Given the description of an element on the screen output the (x, y) to click on. 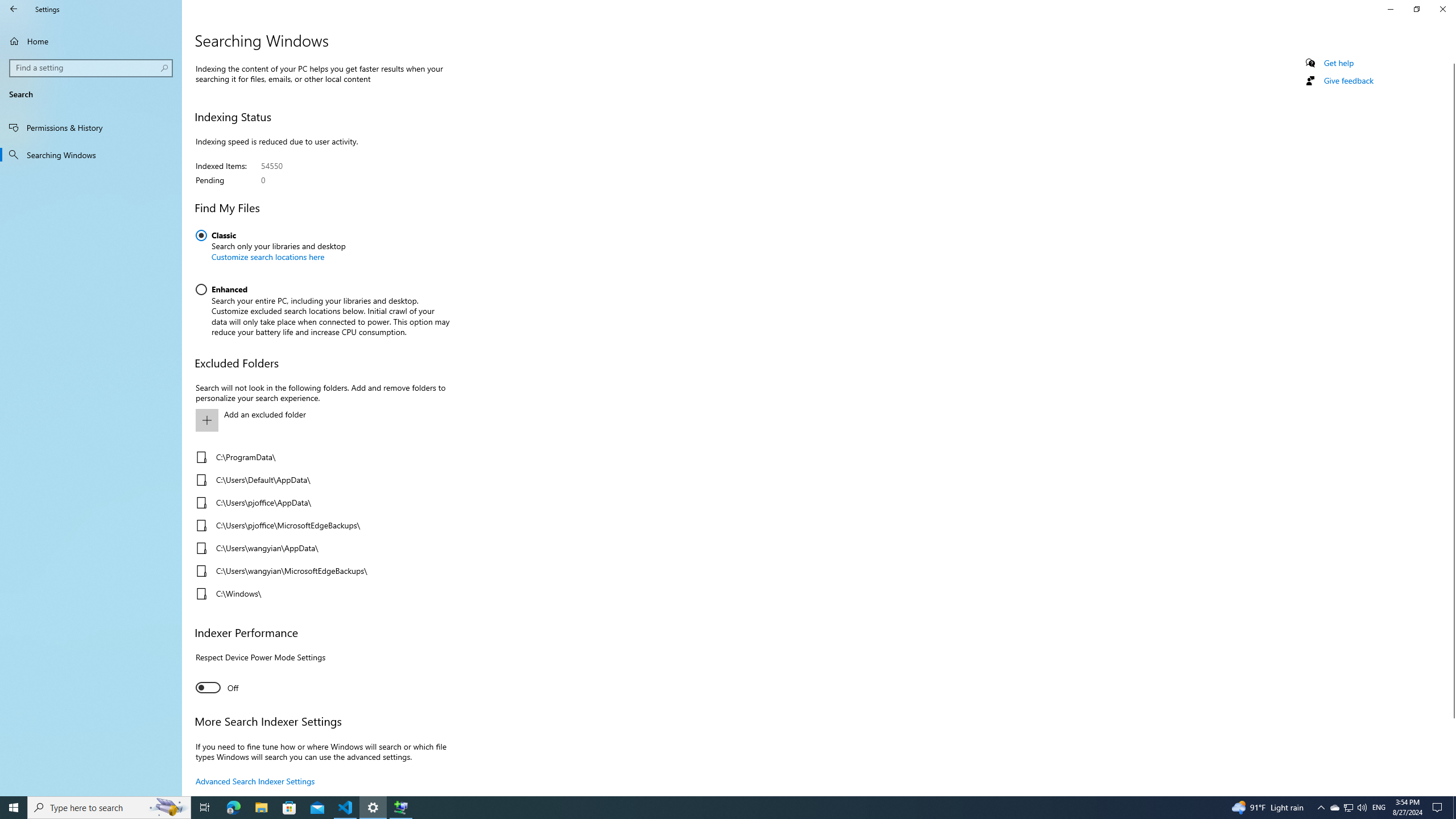
Vertical Small Decrease (1451, 58)
Show desktop (1454, 807)
Advanced Search Indexer Settings (254, 780)
Add an excluded folder (319, 419)
Notification Chevron (1320, 807)
Close Settings (1442, 9)
User Promoted Notification Area (1347, 807)
Microsoft Edge (233, 807)
Running applications (706, 807)
Visual Studio Code - 1 running window (345, 807)
C:\Users\Default\AppData\ (319, 479)
Restore Settings (1416, 9)
Vertical Small Increase (1451, 791)
